Given the description of an element on the screen output the (x, y) to click on. 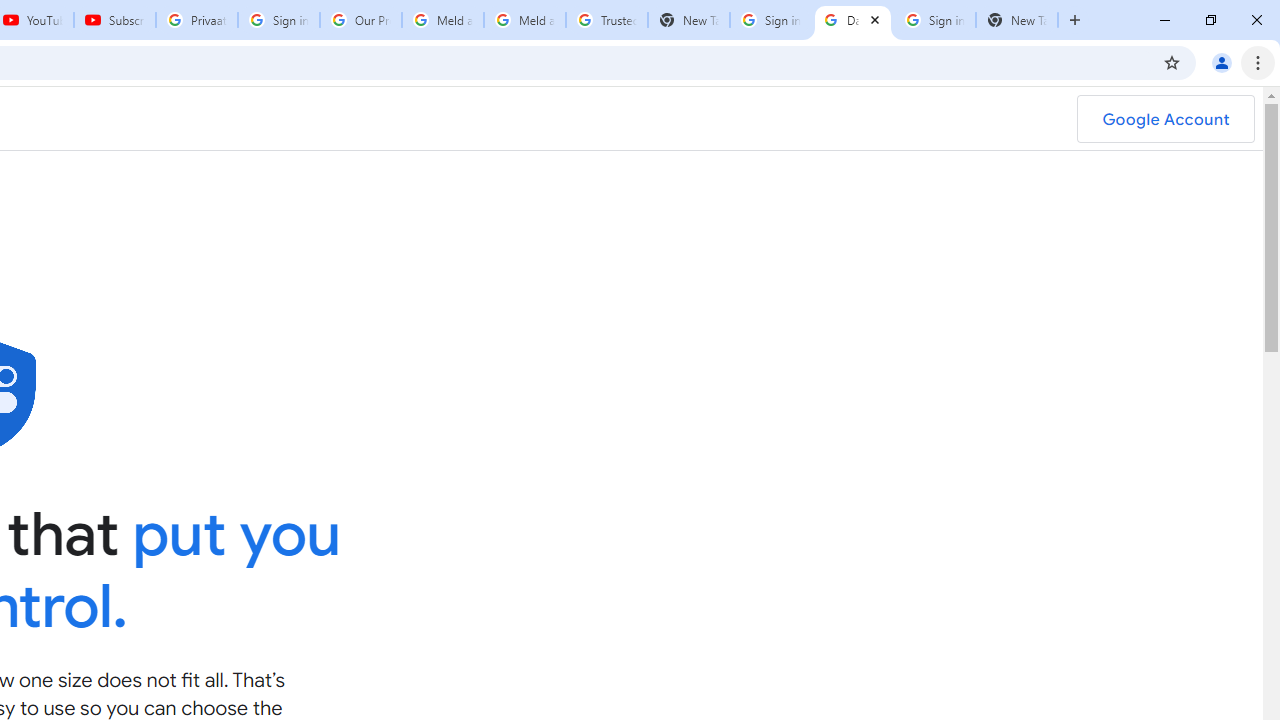
Google Account (1165, 119)
Trusted Information and Content - Google Safety Center (606, 20)
New Tab (688, 20)
Sign in - Google Accounts (770, 20)
New Tab (1016, 20)
Sign in - Google Accounts (934, 20)
